Given the description of an element on the screen output the (x, y) to click on. 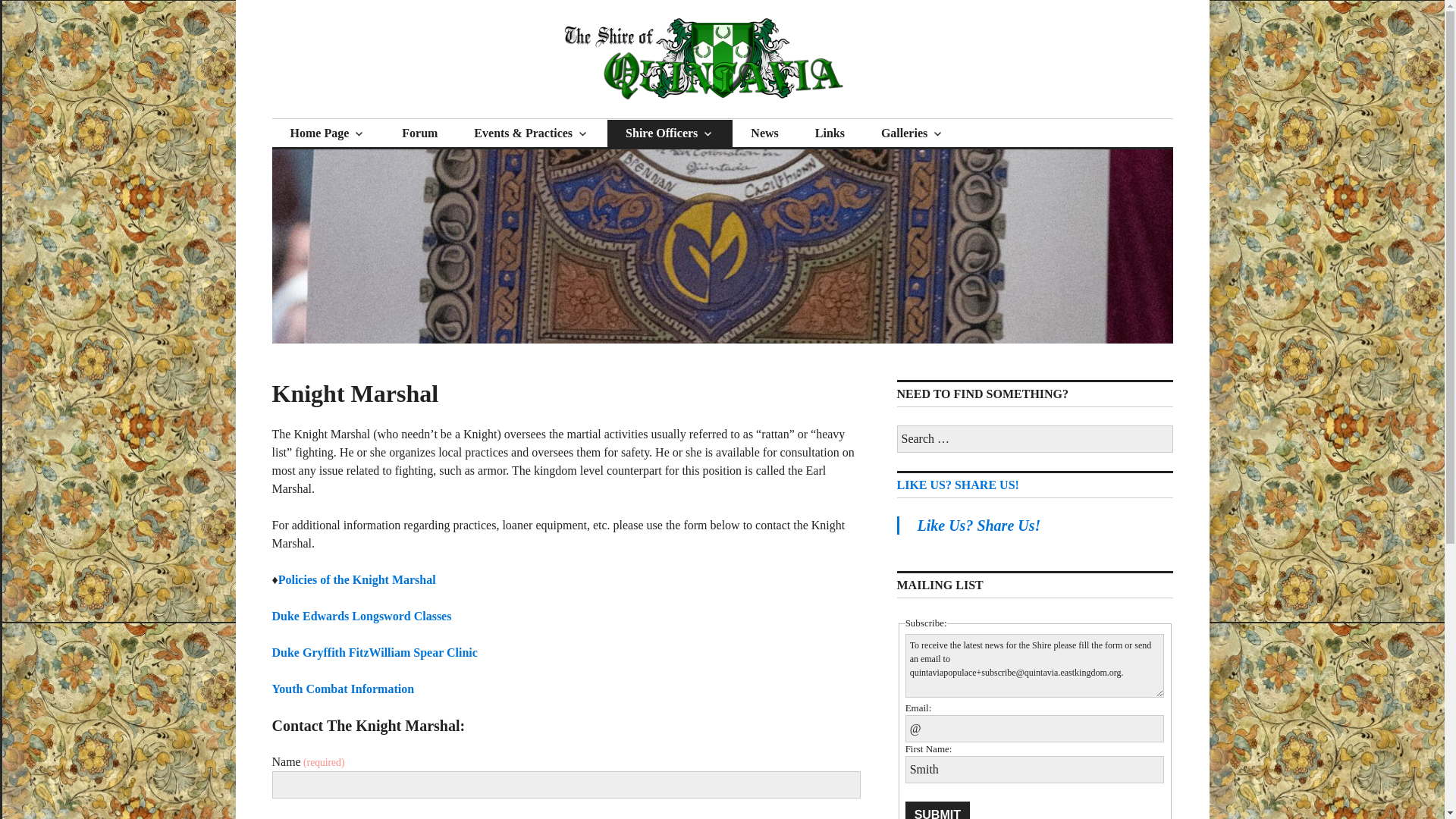
Home Page (327, 133)
Submit (937, 810)
Shire Officers (669, 133)
The Shire of Quintavia (419, 117)
Smith (1034, 768)
Forum (419, 133)
